Given the description of an element on the screen output the (x, y) to click on. 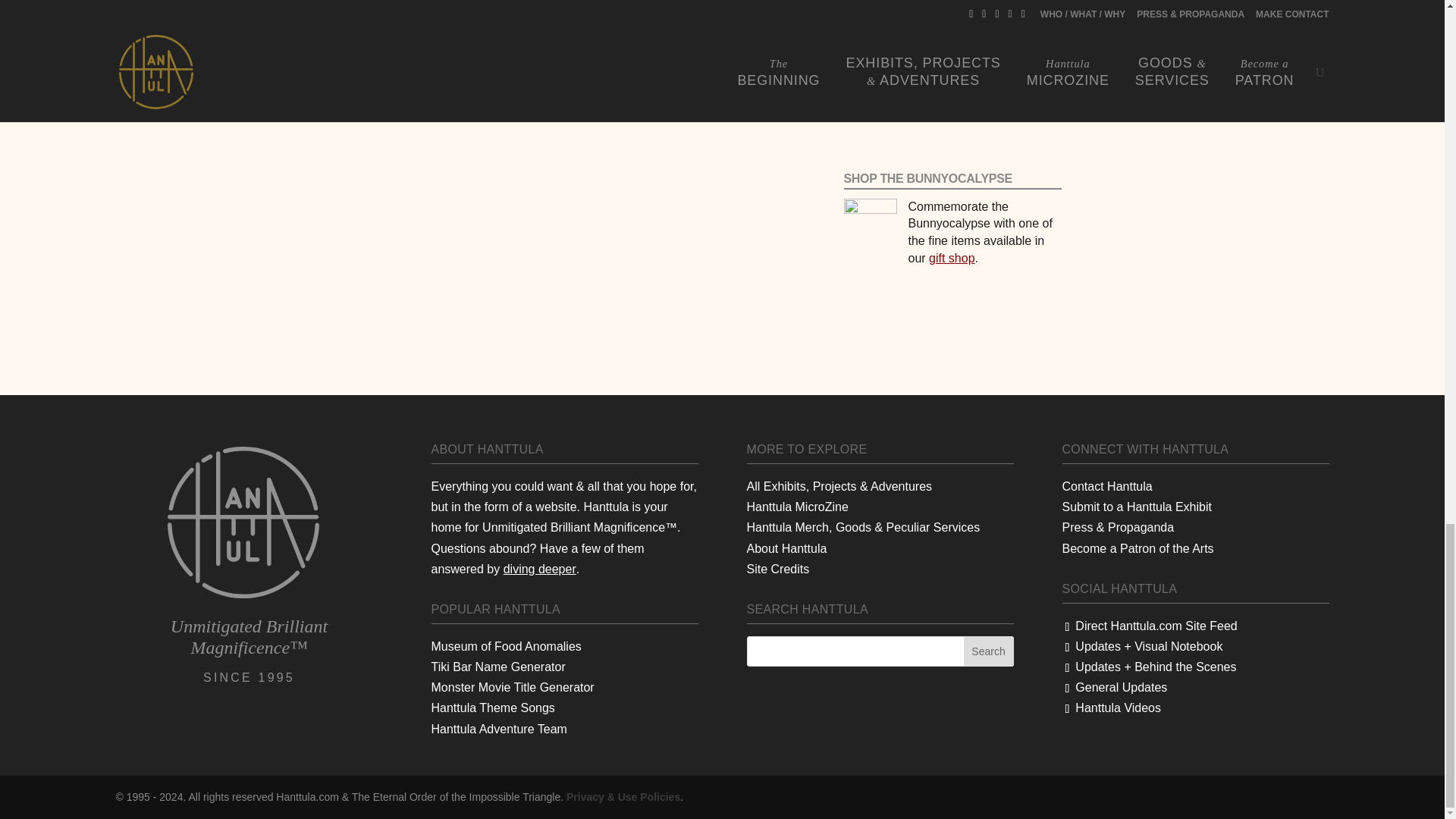
Search (988, 651)
Episode 25: Bunny vs. Sparkler (952, 57)
View Episode 4: Bunny vs. Water Torture (588, 34)
Episode 23: Bunny vs. Helium Balloon (952, 1)
